Given the description of an element on the screen output the (x, y) to click on. 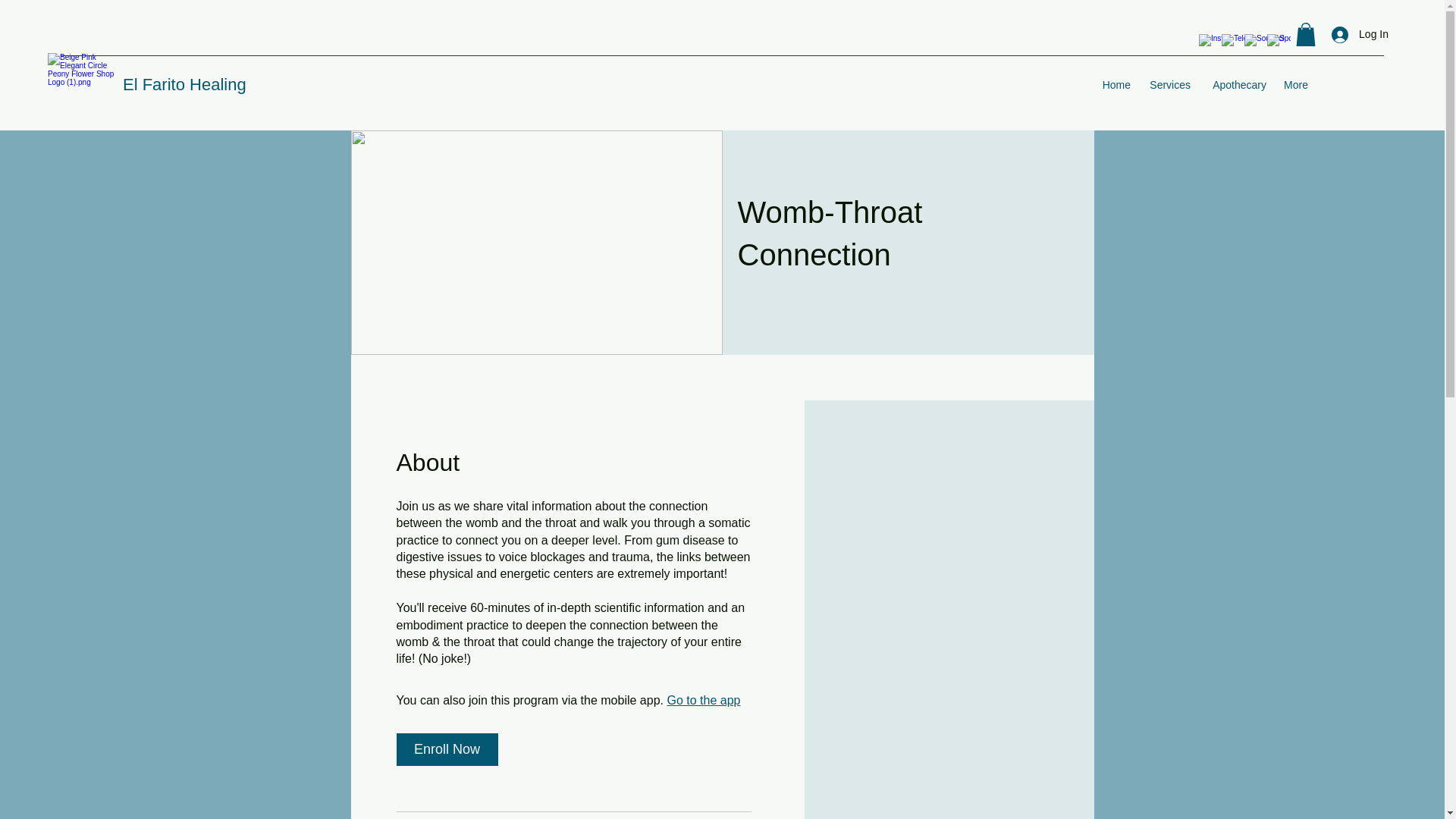
Enroll Now (446, 749)
Apothecary (1236, 84)
Log In (1359, 34)
Home (1116, 84)
Go to the app (702, 699)
Services (1168, 84)
